Given the description of an element on the screen output the (x, y) to click on. 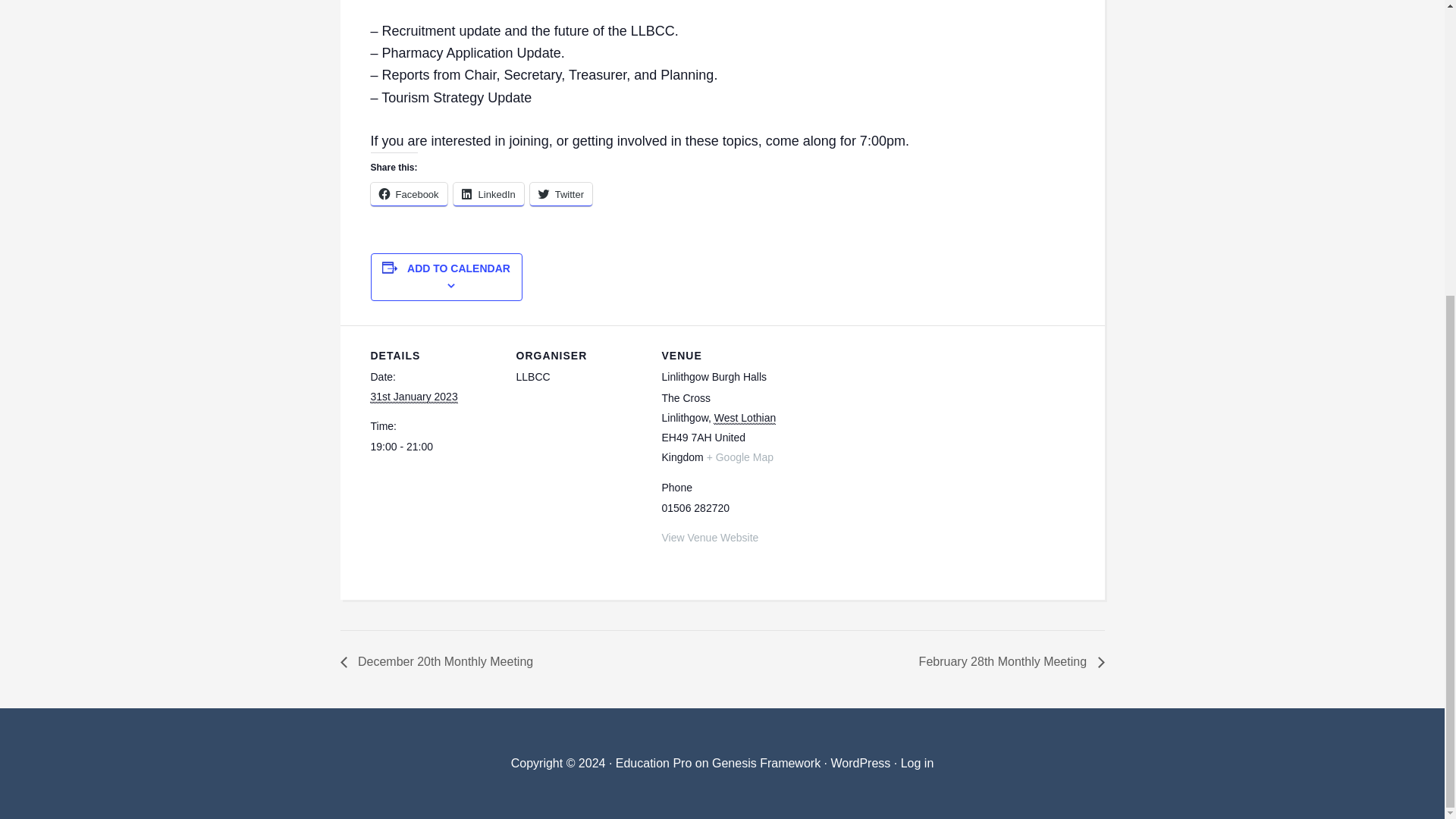
2023-01-31 (433, 446)
Click to share on LinkedIn (488, 193)
View Venue Website (709, 537)
Log in (917, 762)
December 20th Monthly Meeting (440, 661)
Education Pro (654, 762)
ADD TO CALENDAR (459, 268)
Genesis Framework (766, 762)
Twitter (560, 193)
Click to view a Google Map (739, 457)
